Given the description of an element on the screen output the (x, y) to click on. 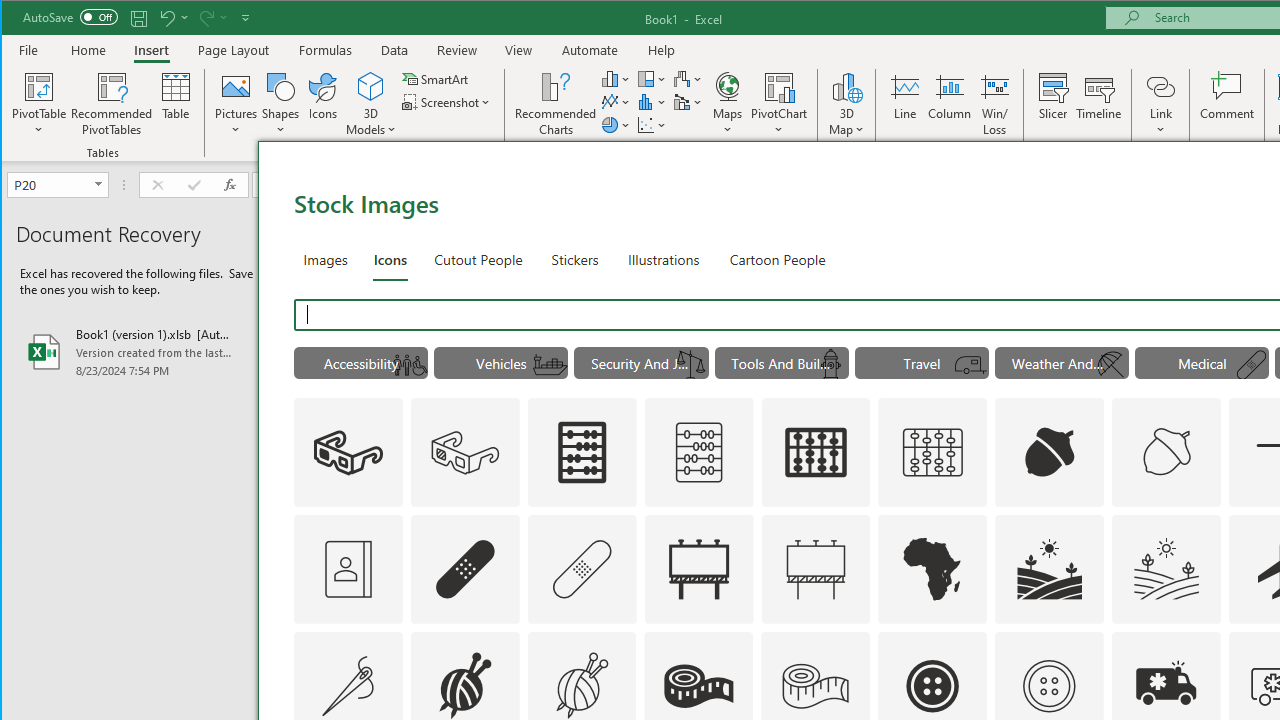
"Medical" Icons. (1201, 362)
Thumbnail (1205, 646)
Maps (727, 104)
Pictures (235, 104)
3D Map (846, 86)
PivotChart (779, 104)
Insert Hierarchy Chart (652, 78)
Icons (390, 258)
AutomationID: Icons_Freight_M (550, 365)
